Given the description of an element on the screen output the (x, y) to click on. 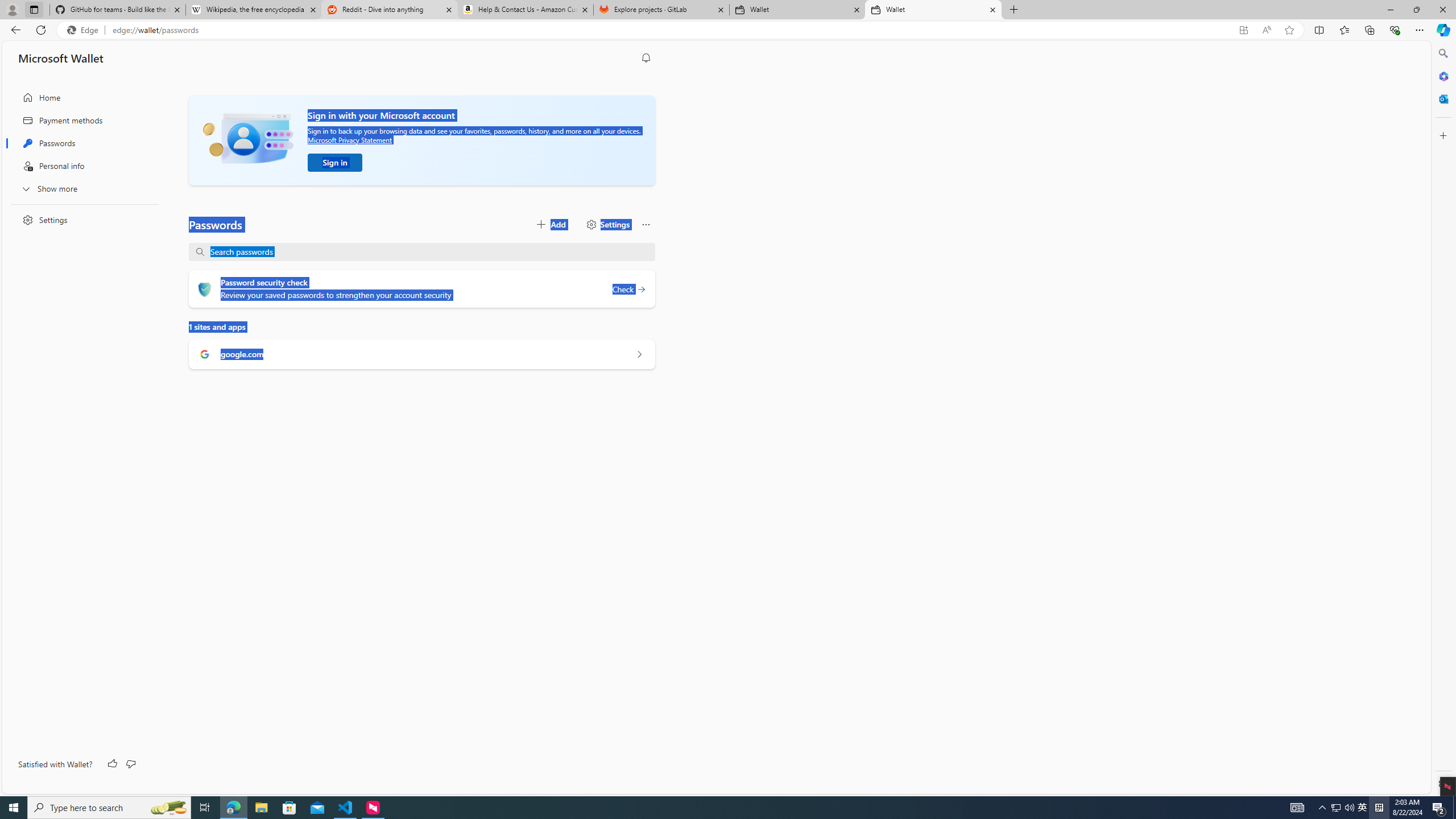
Wikipedia, the free encyclopedia (253, 9)
Wallet (933, 9)
Edge (84, 29)
More actions (646, 224)
Notification (646, 58)
Payment methods (81, 120)
